Given the description of an element on the screen output the (x, y) to click on. 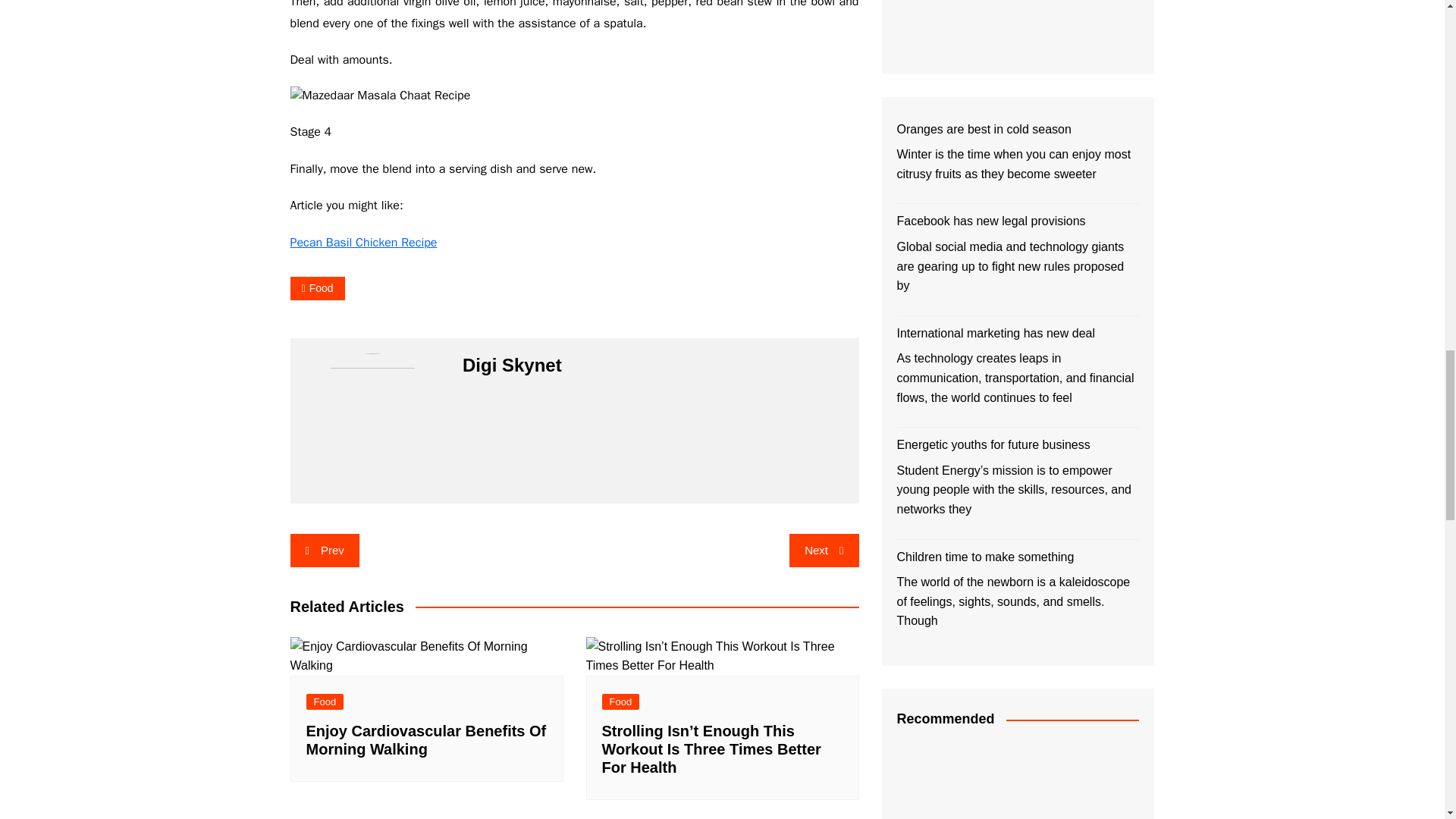
Enjoy Cardiovascular Benefits Of Morning Walking (425, 656)
Prev (323, 550)
Food (316, 288)
Next (824, 550)
Mazedaar Masala Chaat Recipe (379, 96)
Pecan Basil Chicken Recipe (362, 242)
